Given the description of an element on the screen output the (x, y) to click on. 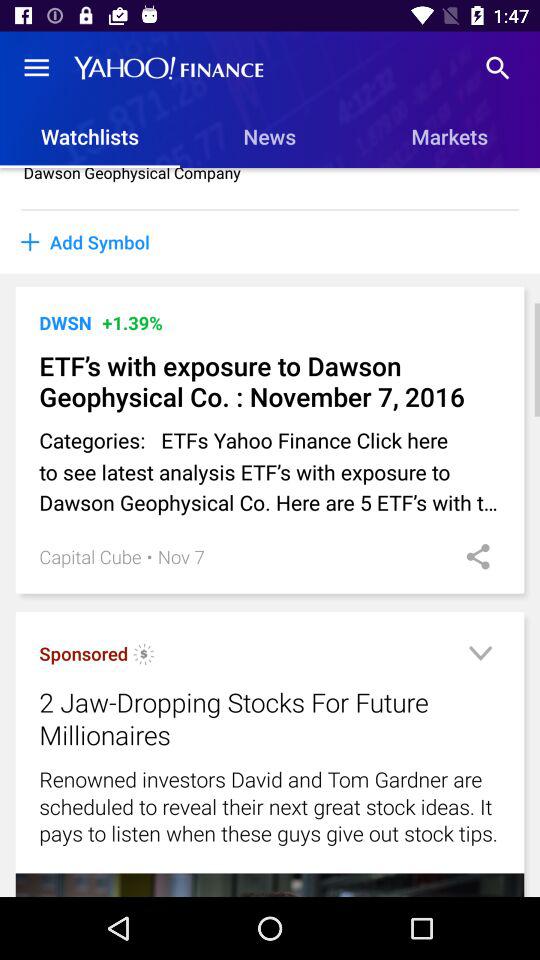
turn on item to the right of the dawson geophysical company item (445, 188)
